Given the description of an element on the screen output the (x, y) to click on. 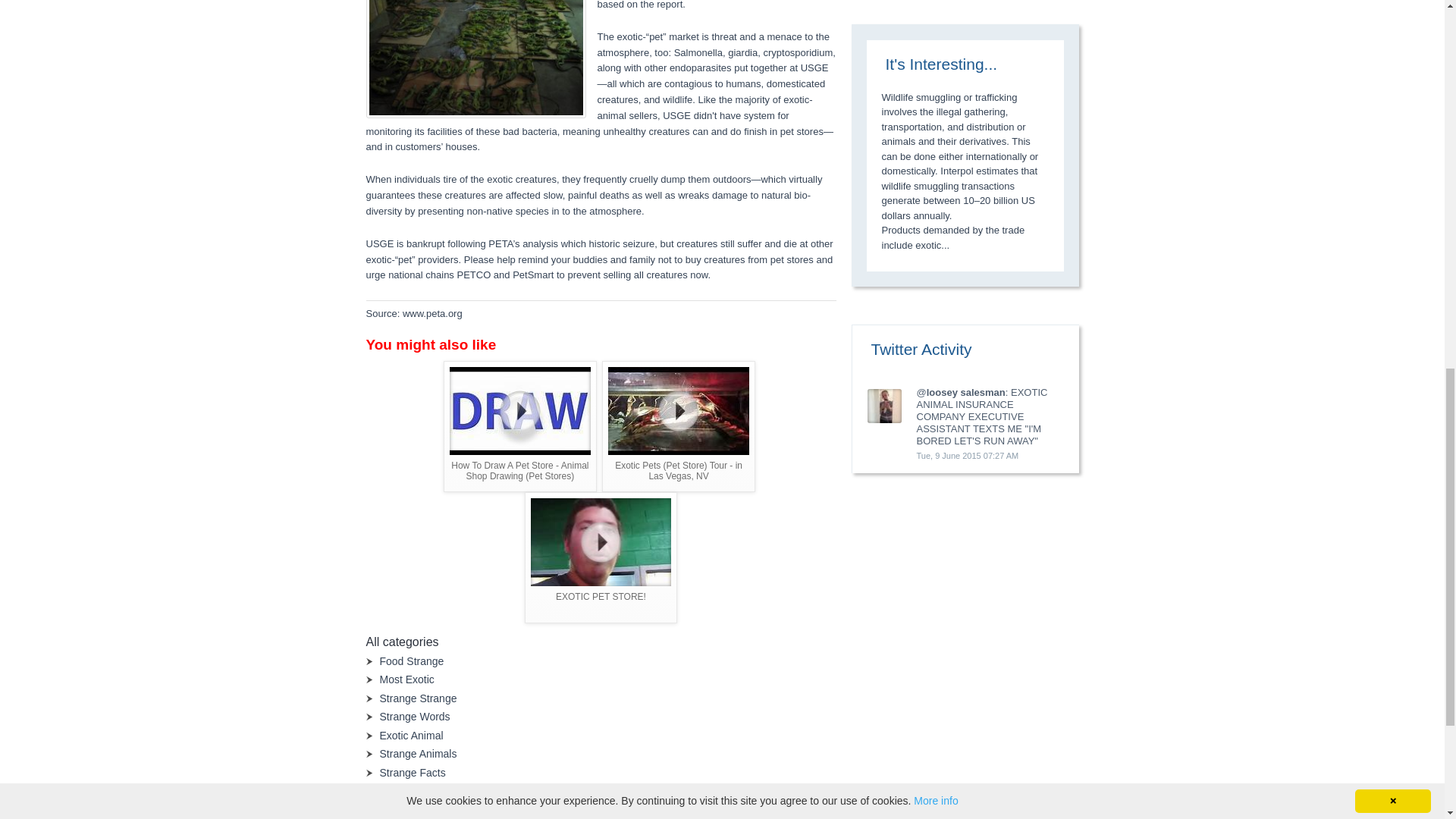
View all posts filed under Strange Strange (417, 698)
Strange Facts (411, 772)
Strange Strange (417, 698)
View this video from YouTube (601, 557)
View all posts filed under Most Exotic (405, 679)
View this video from YouTube (520, 426)
Strange Animals (417, 753)
View all posts filed under Strange Facts (411, 772)
View all posts filed under Food Strange (411, 661)
Strange Words (413, 716)
View all posts filed under Strange Words (413, 716)
View all posts filed under Exotic Animal (410, 735)
View this video from WN (678, 426)
View all posts filed under Strange Animals (417, 753)
Food Strange (411, 661)
